Given the description of an element on the screen output the (x, y) to click on. 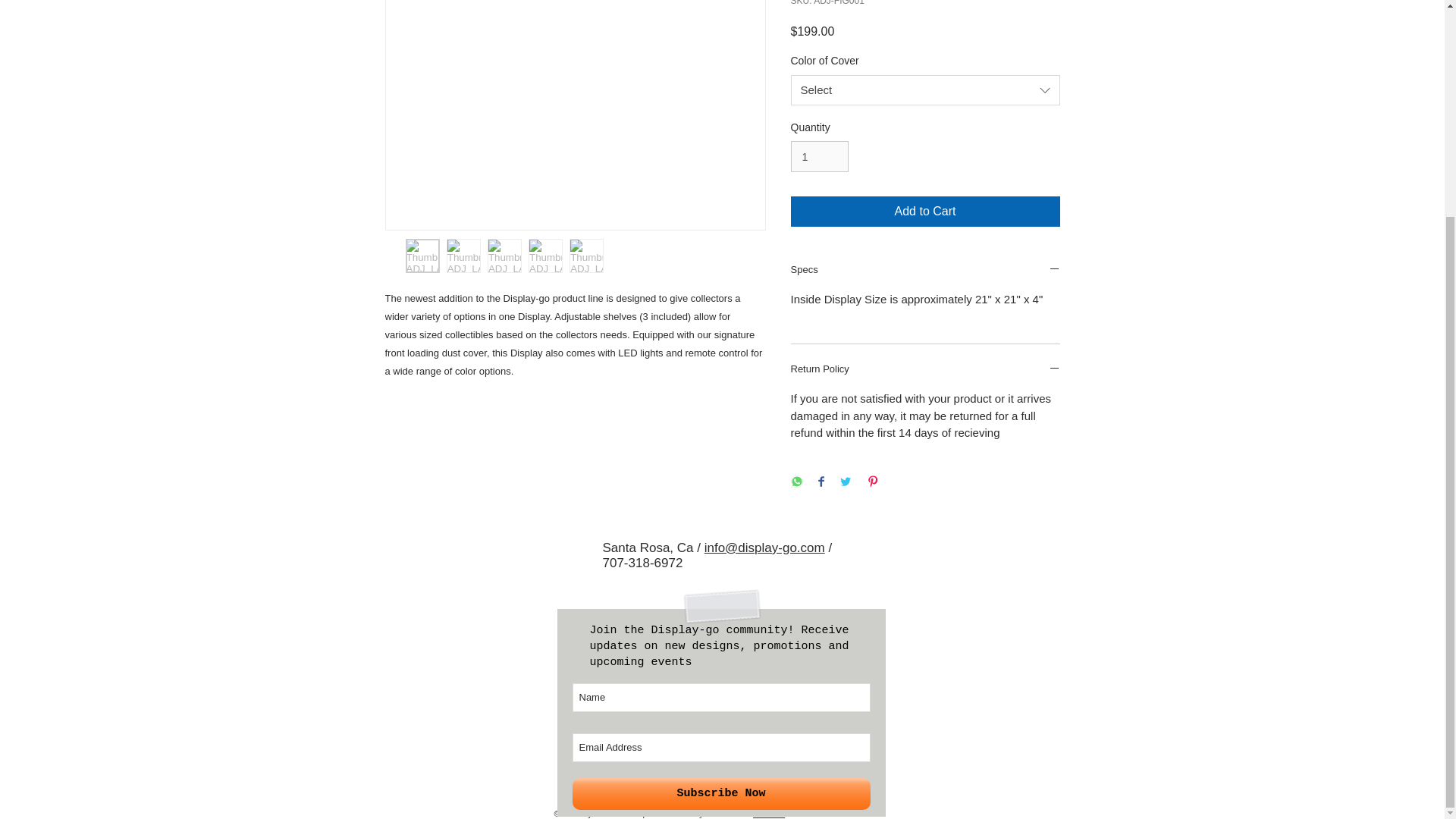
Return Policy (924, 369)
1 (818, 155)
Specs (924, 270)
Wix.com (768, 813)
Select (924, 90)
Add to Cart (924, 211)
Subscribe Now (720, 793)
